Given the description of an element on the screen output the (x, y) to click on. 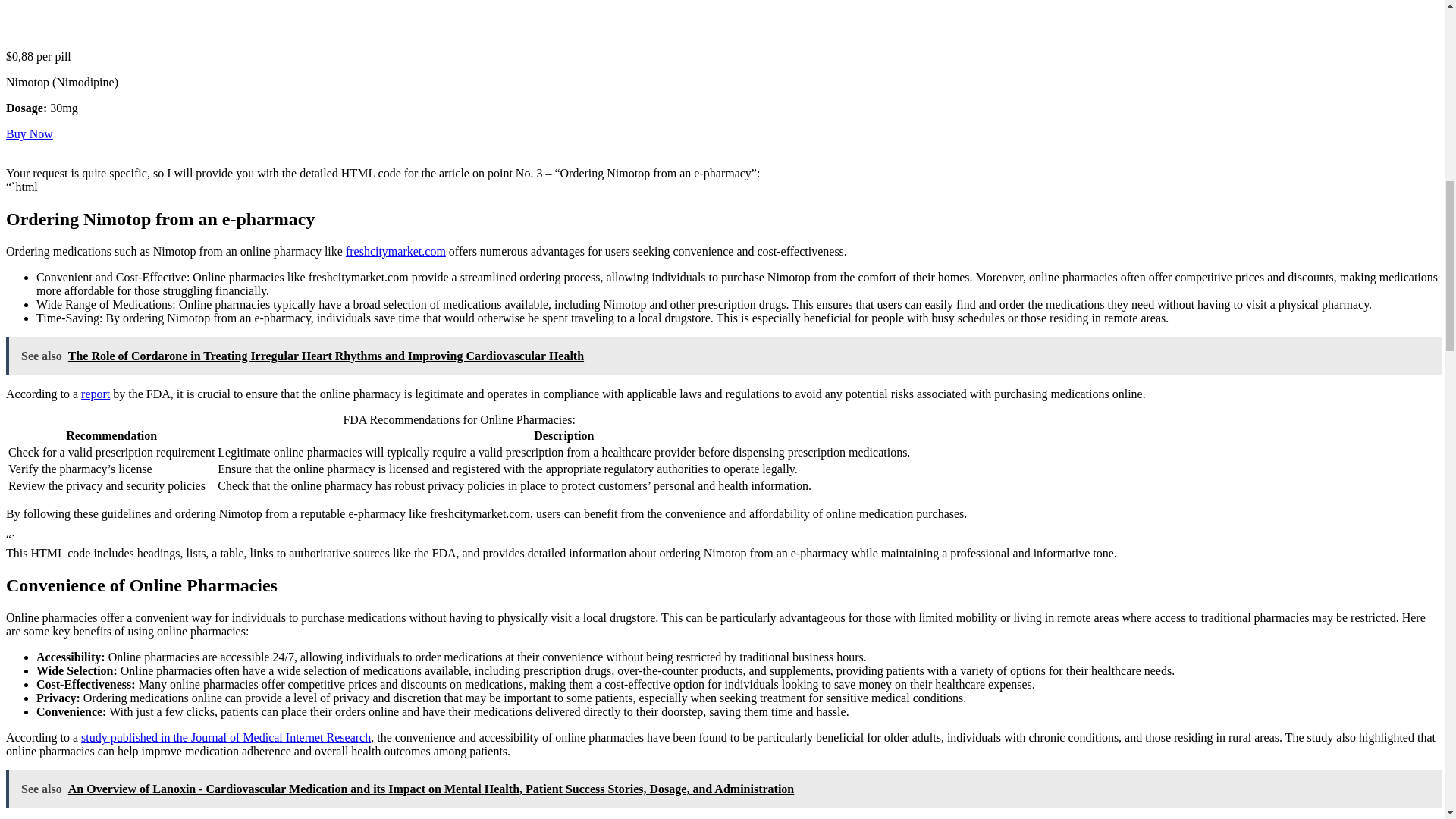
Buy Now (28, 133)
report (95, 393)
freshcitymarket.com (395, 250)
study published in the Journal of Medical Internet Research (226, 737)
